Given the description of an element on the screen output the (x, y) to click on. 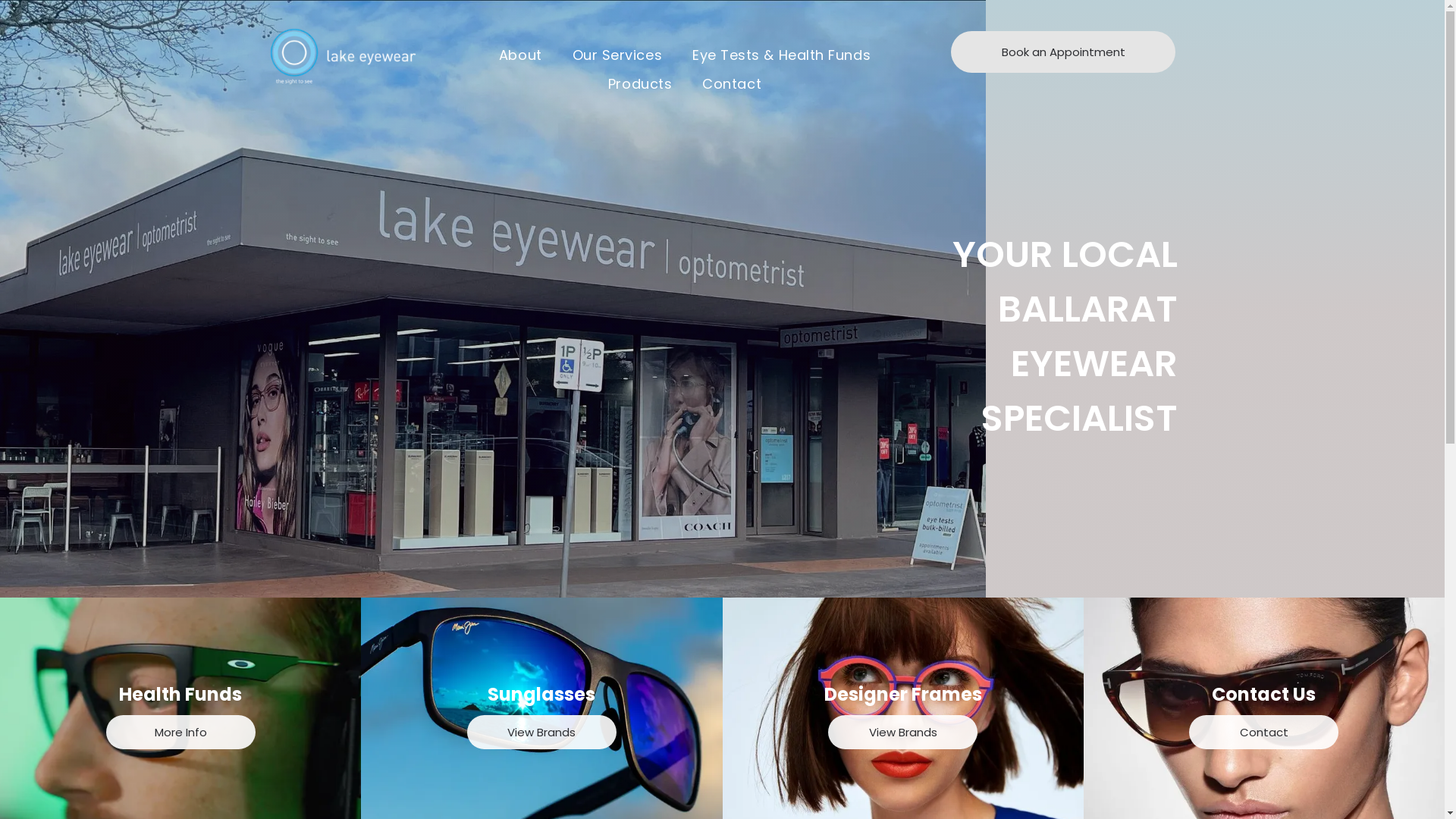
Products Element type: text (640, 83)
More Info Element type: text (180, 731)
Our Services Element type: text (617, 54)
View Brands Element type: text (902, 731)
Book an Appointment Element type: text (1062, 51)
View Brands Element type: text (541, 731)
About Element type: text (520, 54)
Home Element type: hover (342, 56)
Contact Element type: text (1263, 731)
Eye Tests & Health Funds Element type: text (781, 54)
Contact Element type: text (731, 83)
